Given the description of an element on the screen output the (x, y) to click on. 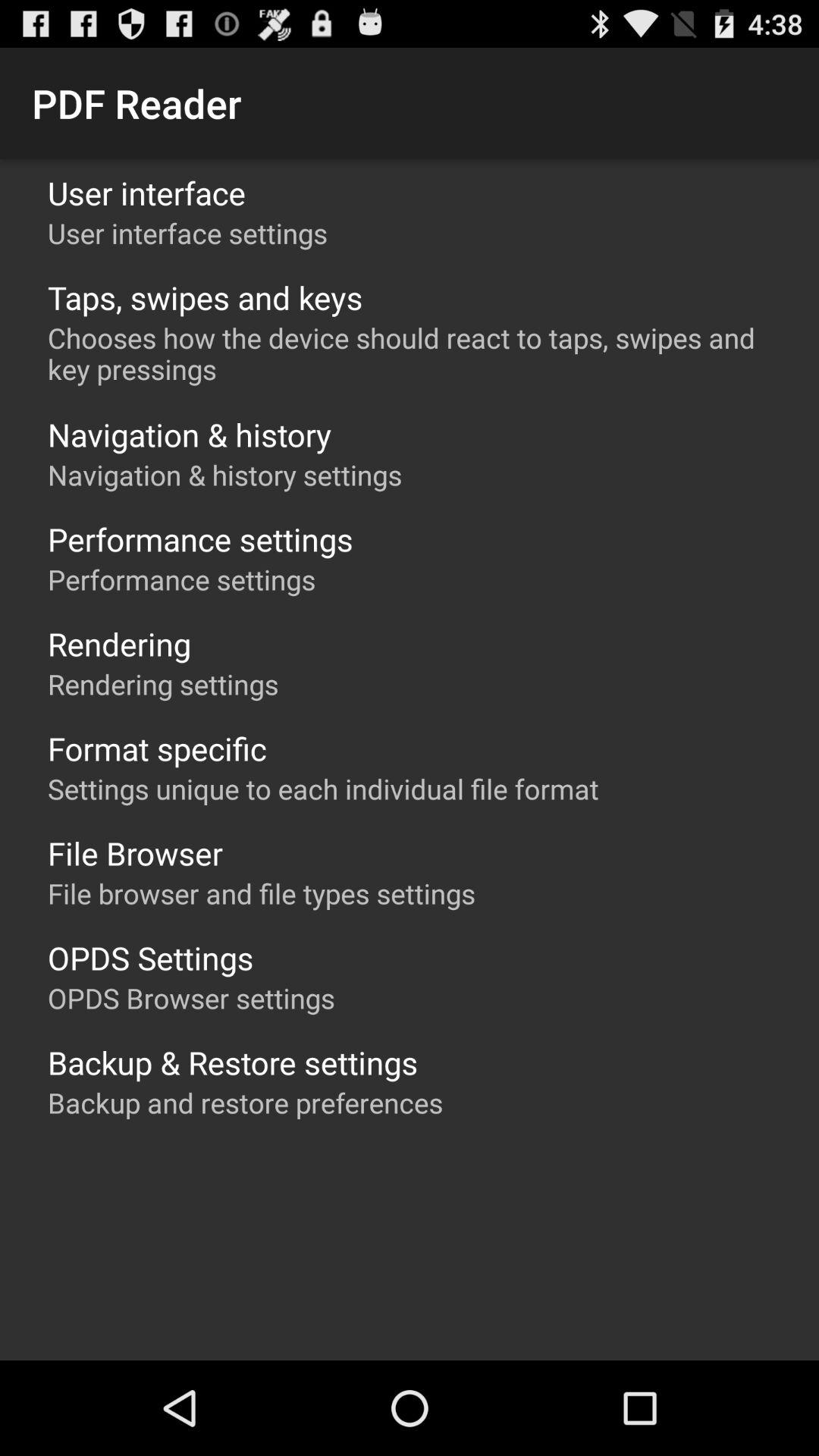
open the app below format specific item (322, 788)
